Given the description of an element on the screen output the (x, y) to click on. 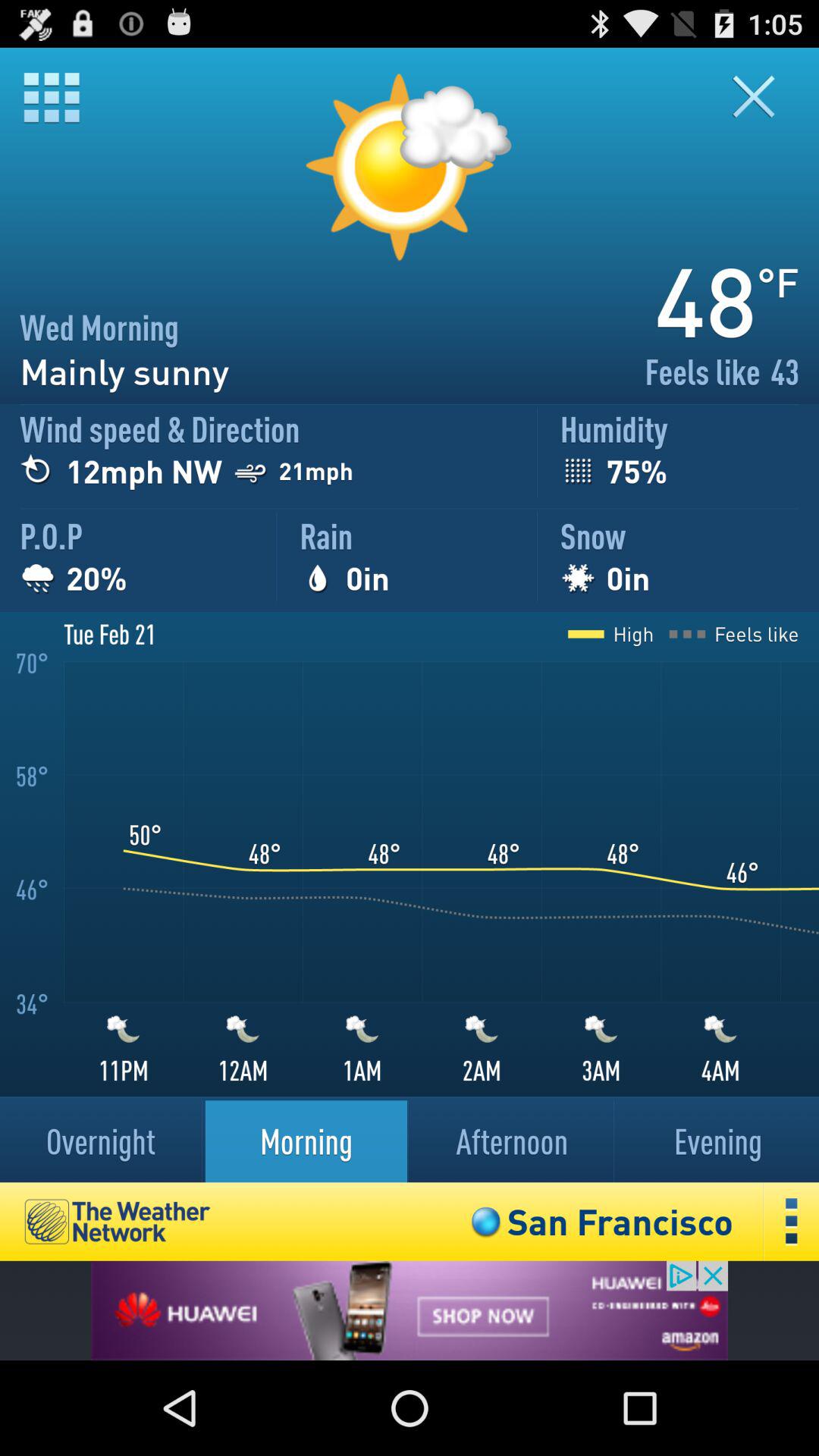
click to expand menu options (791, 1221)
